Given the description of an element on the screen output the (x, y) to click on. 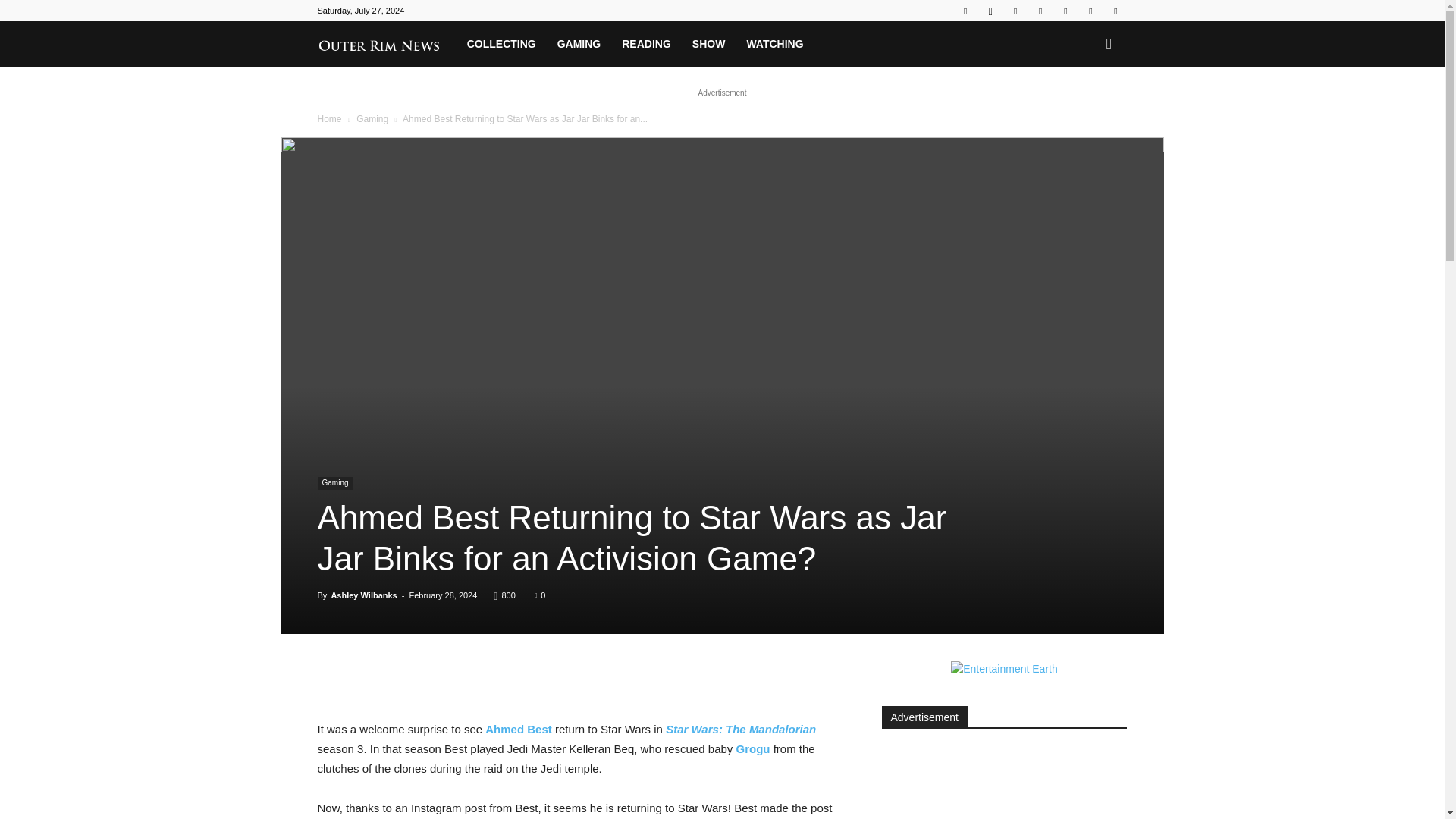
Instagram (989, 10)
Pinterest (1040, 10)
COLLECTING (502, 43)
Facebook (964, 10)
Outer Rim News (386, 43)
Tumblr (1065, 10)
Mail (1015, 10)
